Given the description of an element on the screen output the (x, y) to click on. 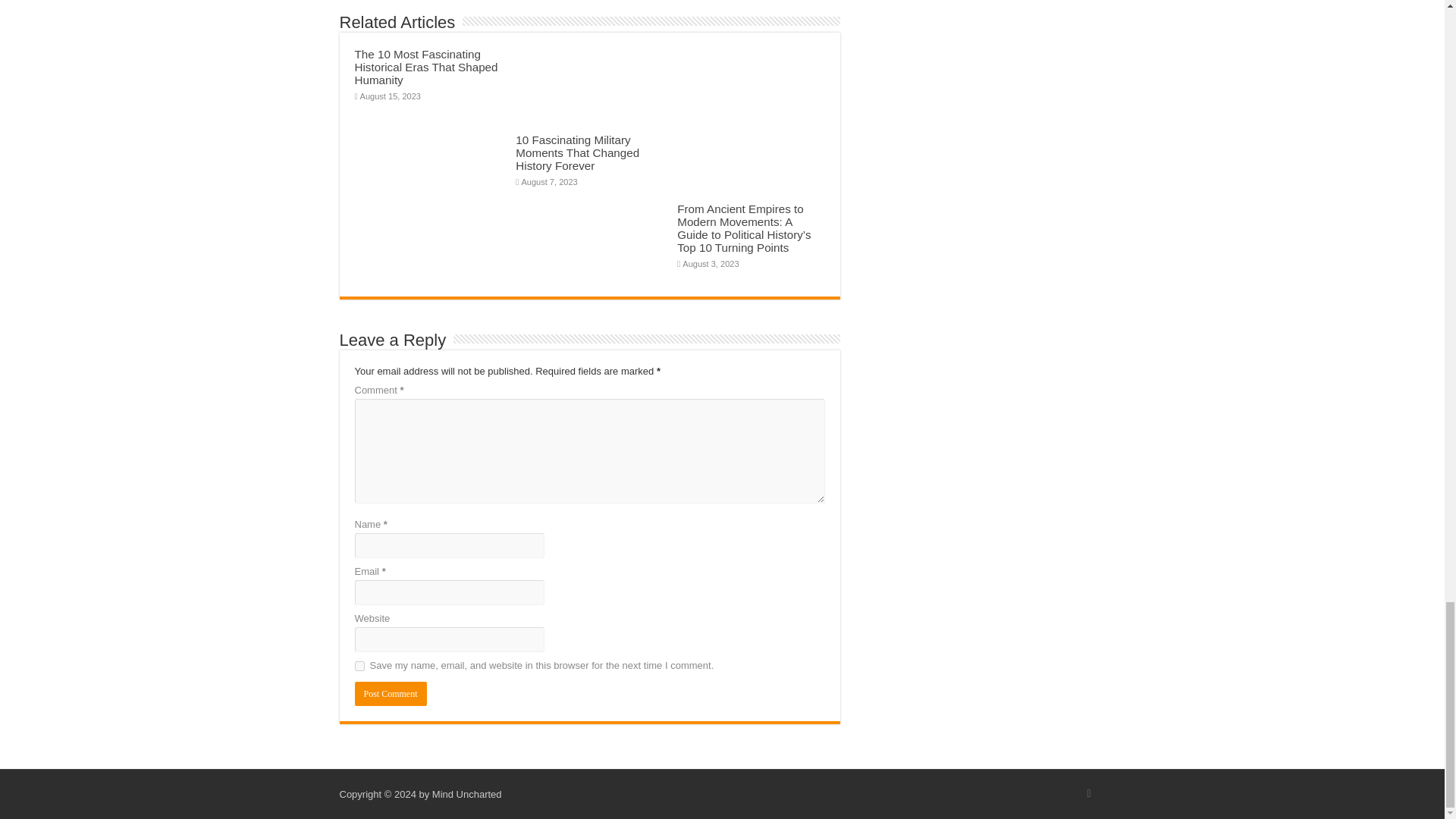
yes (360, 665)
Post Comment (390, 693)
